Given the description of an element on the screen output the (x, y) to click on. 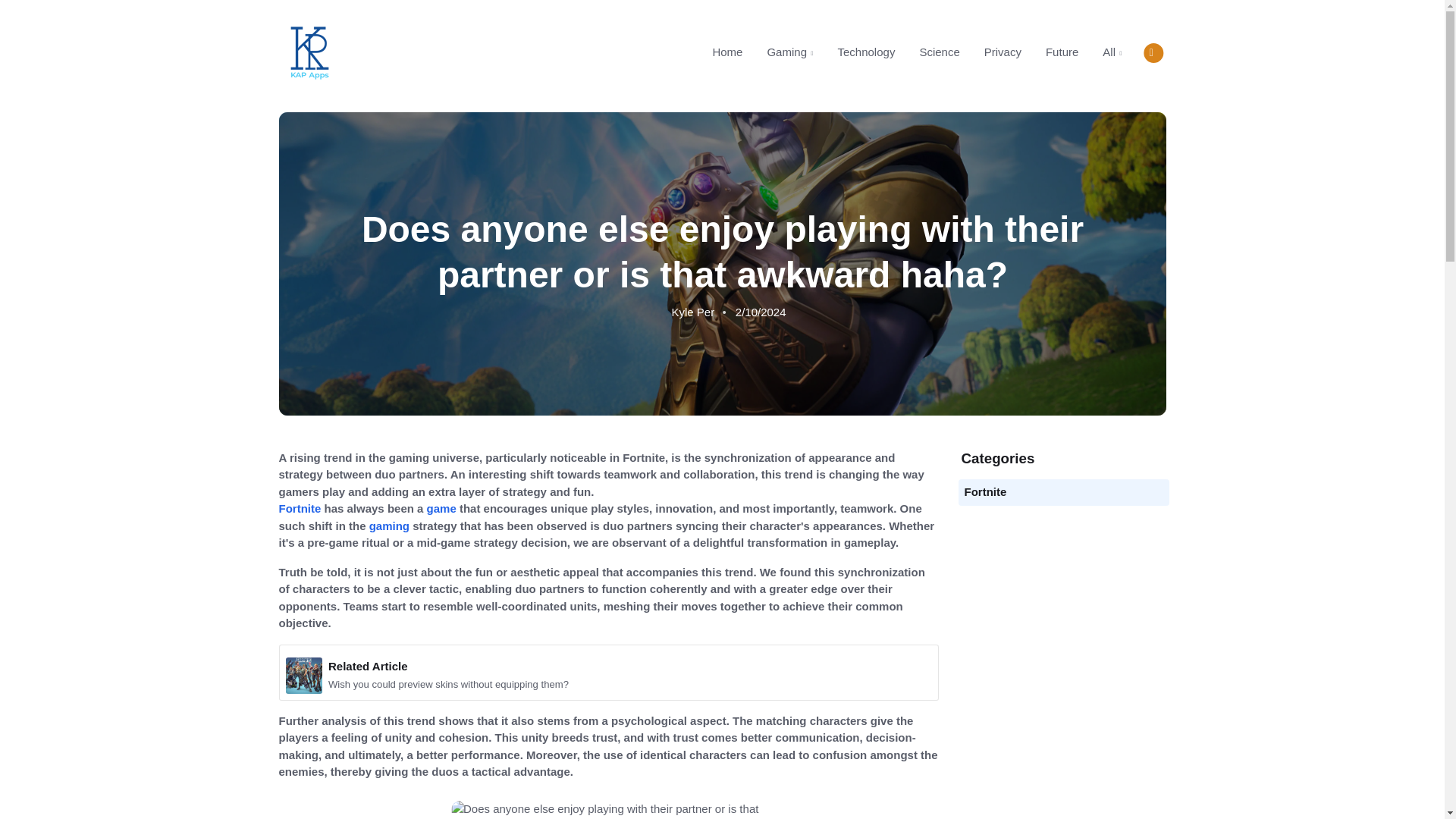
Fortnite (300, 508)
game (910, 52)
Technology (441, 508)
gaming (866, 52)
Science (389, 525)
R (939, 52)
Fortnite (1002, 52)
Kyle Per (985, 491)
